Given the description of an element on the screen output the (x, y) to click on. 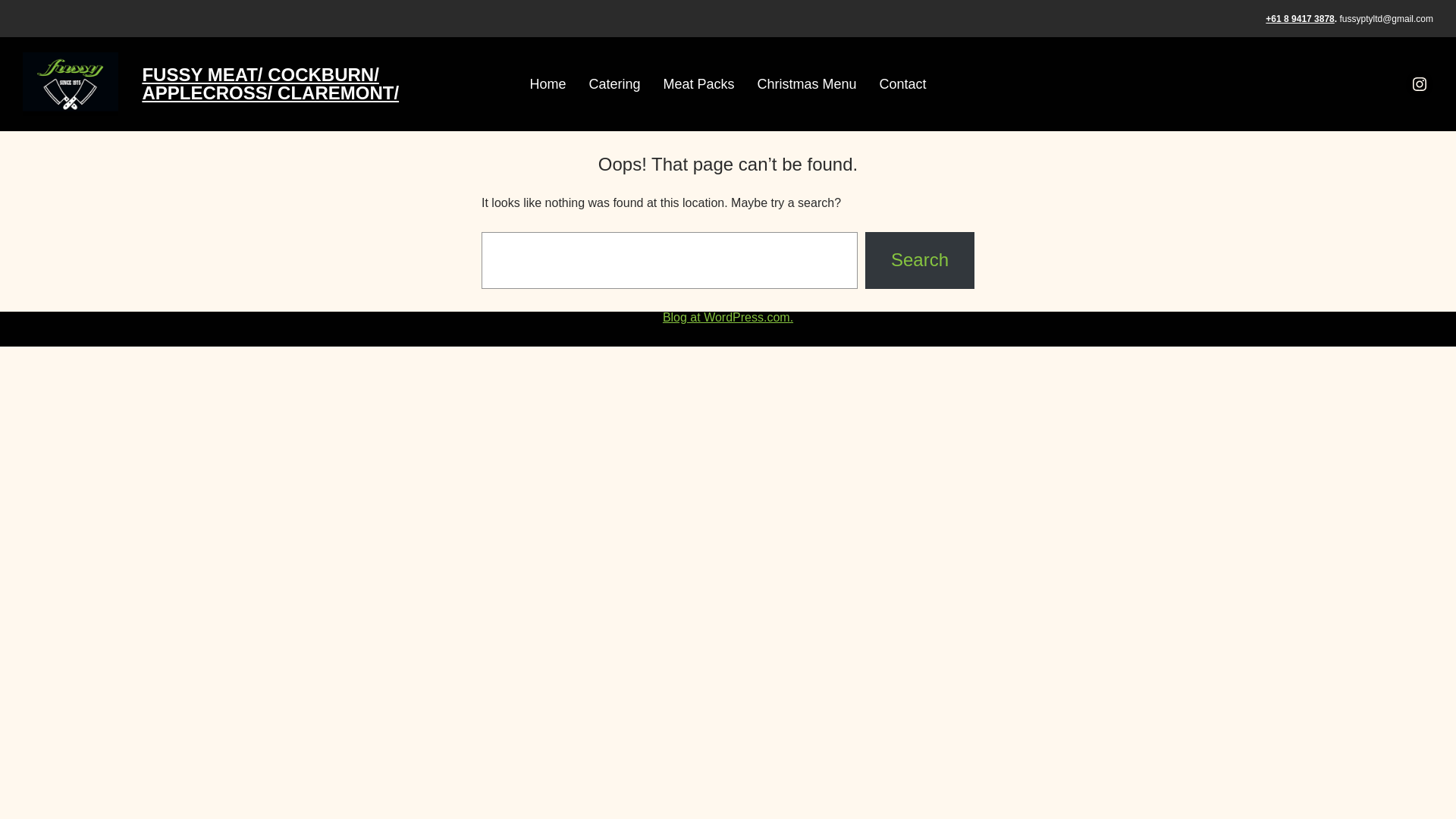
Christmas Menu Element type: text (806, 84)
Home Element type: text (547, 84)
Instagram Element type: text (1419, 83)
Meat Packs Element type: text (698, 84)
Blog at WordPress.com. Element type: text (727, 316)
+61 8 9417 3878 Element type: text (1299, 18)
Contact Element type: text (902, 84)
FUSSY MEAT/ COCKBURN/ APPLECROSS/ CLAREMONT/ Element type: text (269, 83)
Search Element type: text (919, 260)
Catering Element type: text (614, 84)
